Given the description of an element on the screen output the (x, y) to click on. 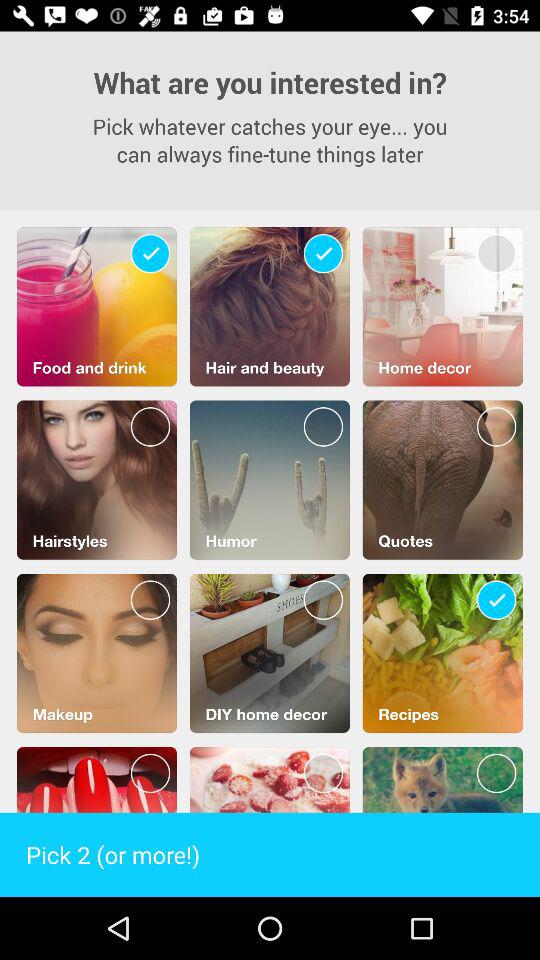
flip to the pick 2 or item (270, 854)
